Given the description of an element on the screen output the (x, y) to click on. 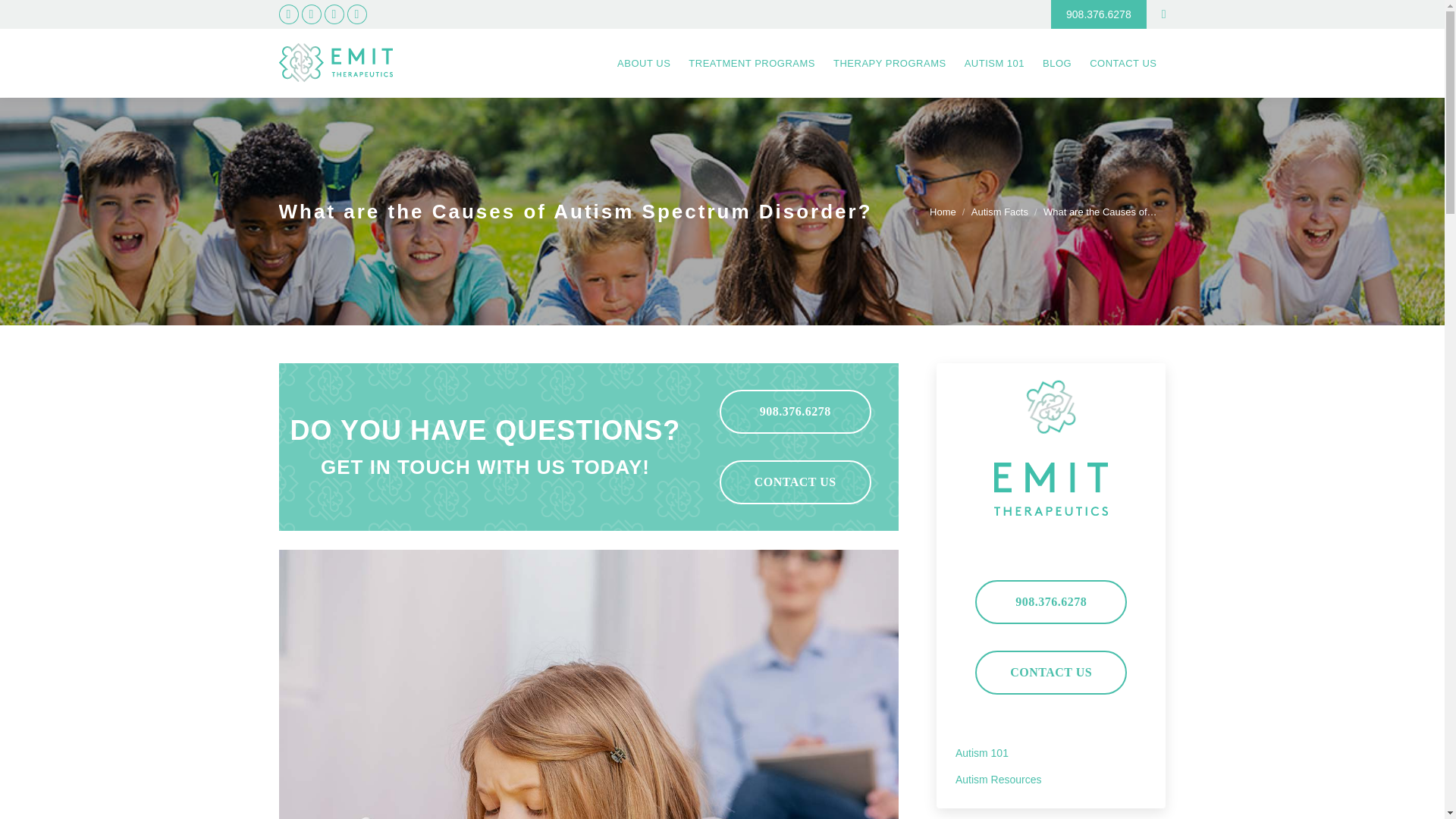
908.376.6278 (1099, 14)
THERAPY PROGRAMS (889, 62)
Go! (24, 15)
Instagram page opens in new window (311, 14)
Facebook page opens in new window (288, 14)
Facebook page opens in new window (288, 14)
Instagram page opens in new window (311, 14)
TREATMENT PROGRAMS (751, 62)
ABOUT US (643, 62)
AUTISM 101 (994, 62)
